Given the description of an element on the screen output the (x, y) to click on. 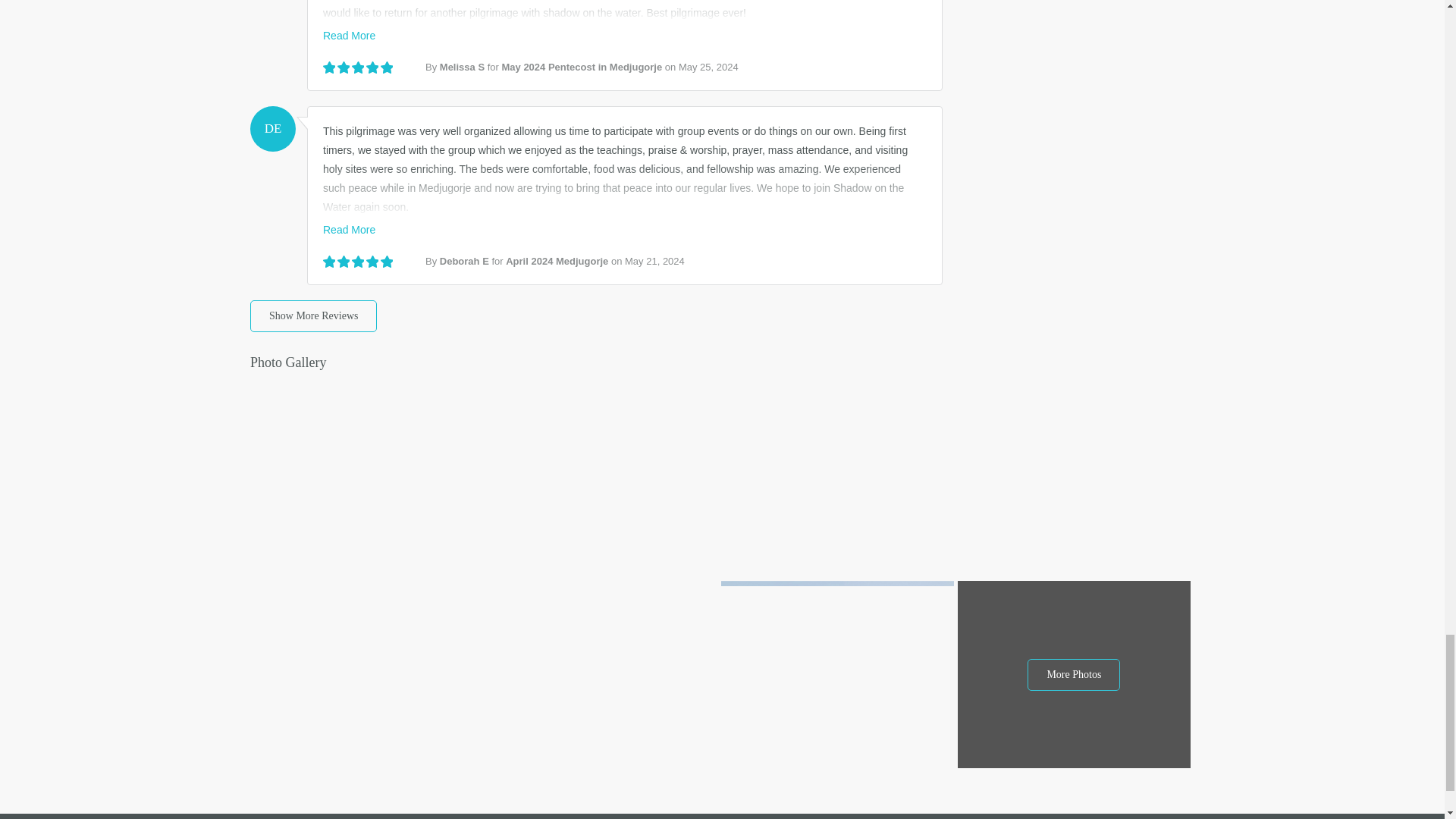
Read More (349, 35)
